Given the description of an element on the screen output the (x, y) to click on. 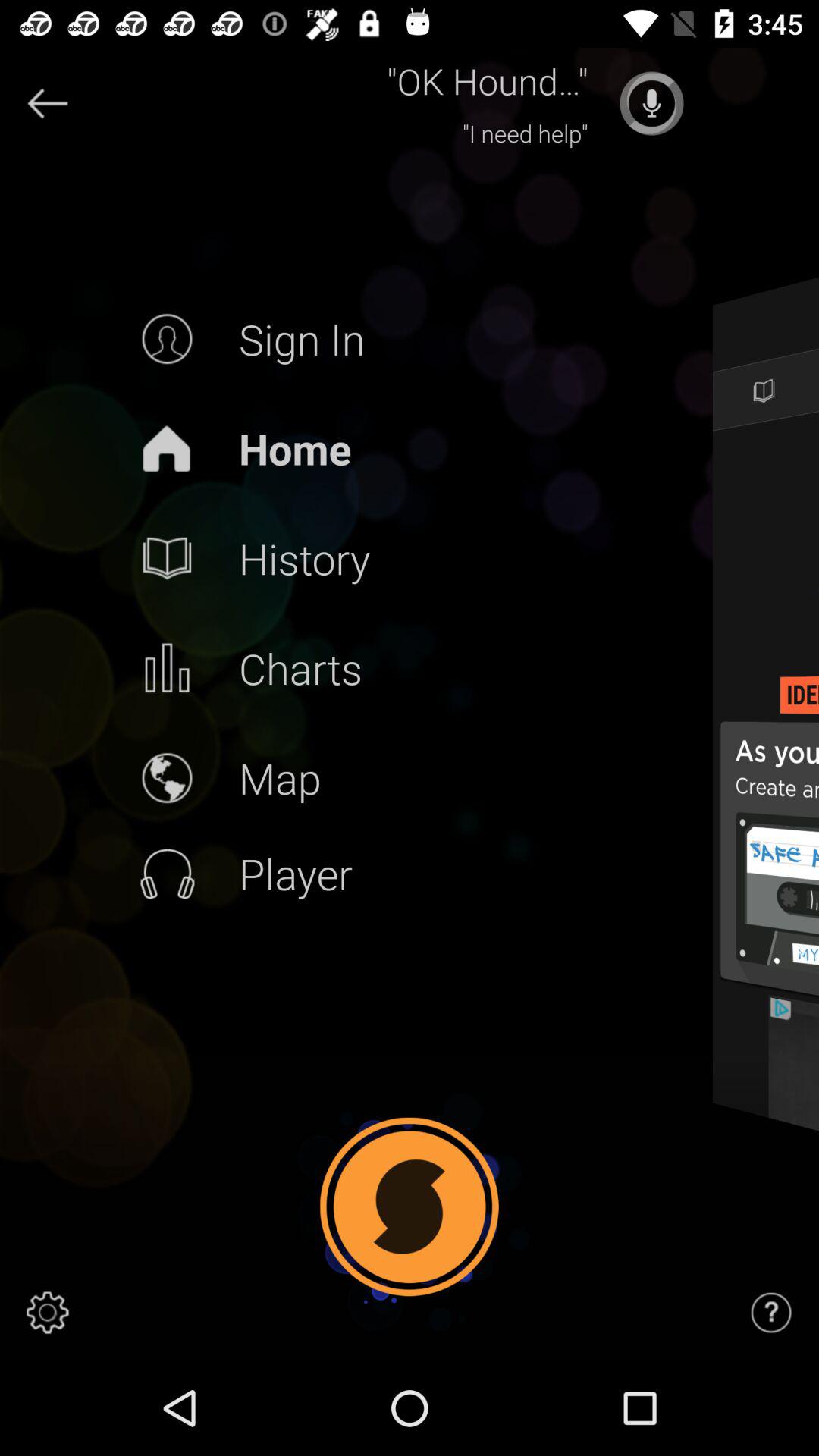
choose the icon below identify music or (793, 1107)
